Given the description of an element on the screen output the (x, y) to click on. 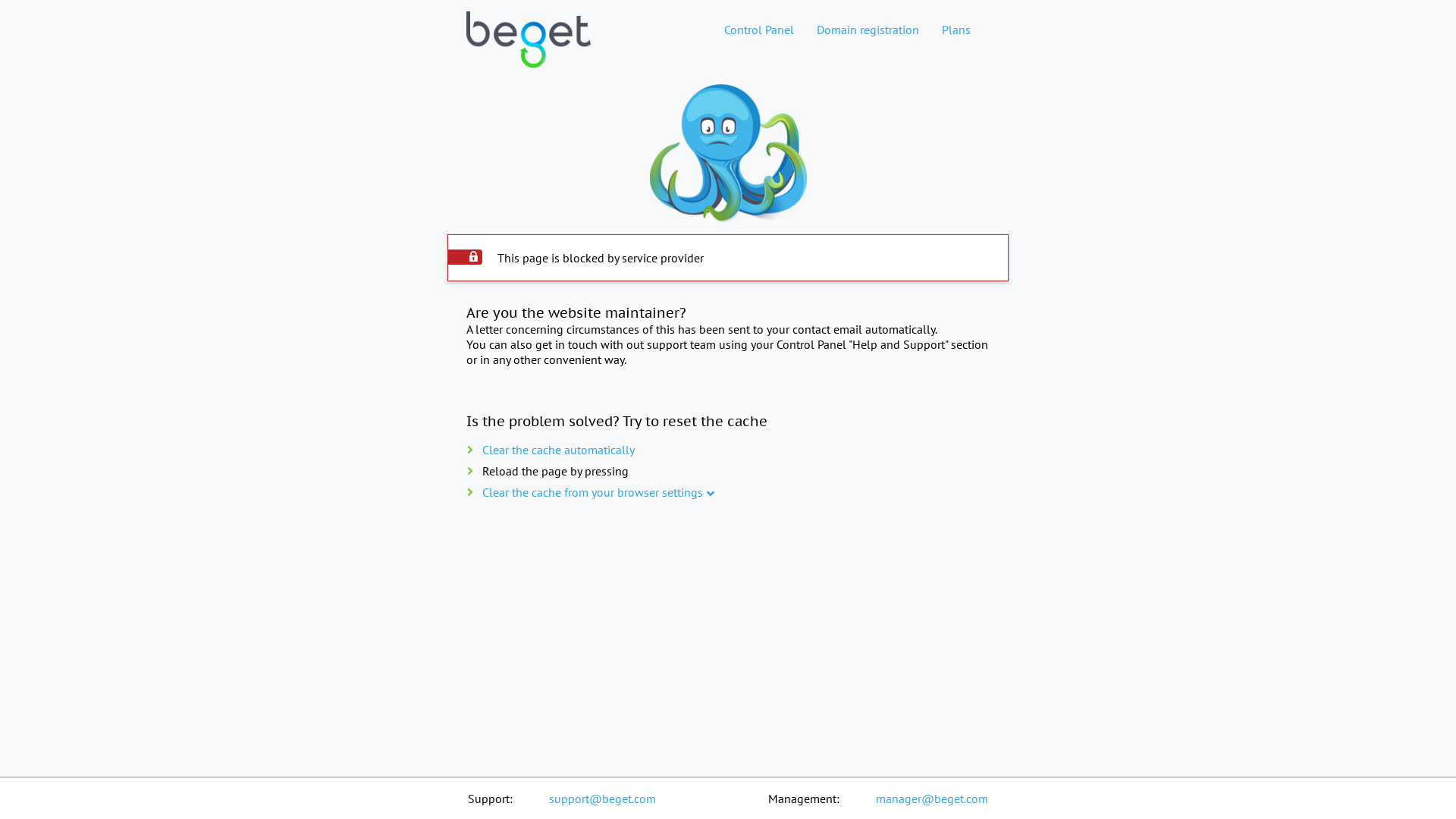
support@beget.com Element type: text (602, 798)
Domain registration Element type: text (867, 29)
Control Panel Element type: text (758, 29)
manager@beget.com Element type: text (931, 798)
Web hosting home page Element type: hover (528, 51)
Clear the cache automatically Element type: text (558, 449)
Clear the cache from your browser settings Element type: text (592, 491)
Plans Element type: text (956, 29)
